Given the description of an element on the screen output the (x, y) to click on. 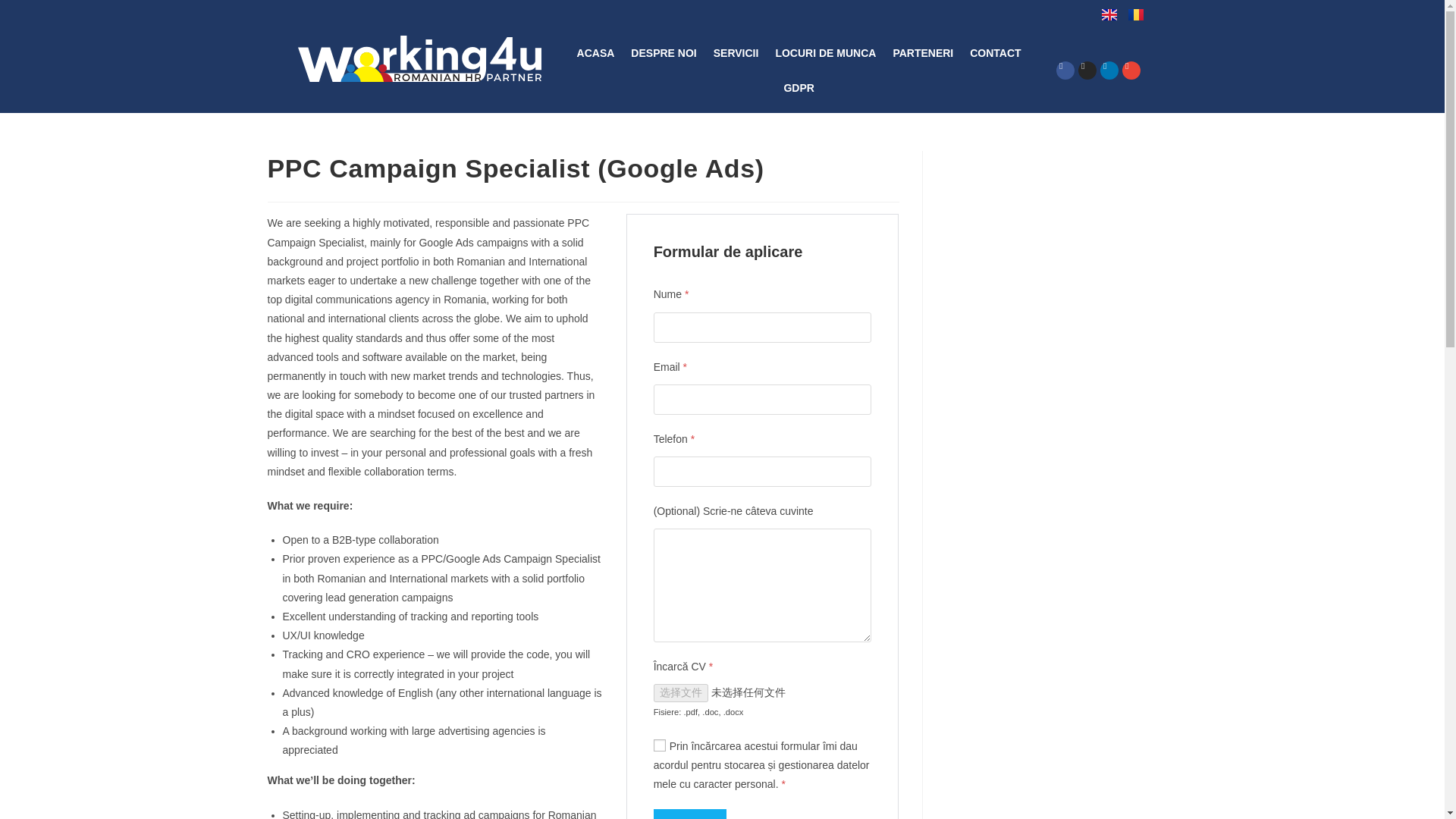
yes (659, 745)
LOCURI DE MUNCA (825, 53)
Trimite (689, 814)
PARTENERI (921, 53)
GDPR (798, 87)
SERVICII (735, 53)
Trimite (689, 814)
CONTACT (994, 53)
DESPRE NOI (663, 53)
ACASA (596, 53)
